Given the description of an element on the screen output the (x, y) to click on. 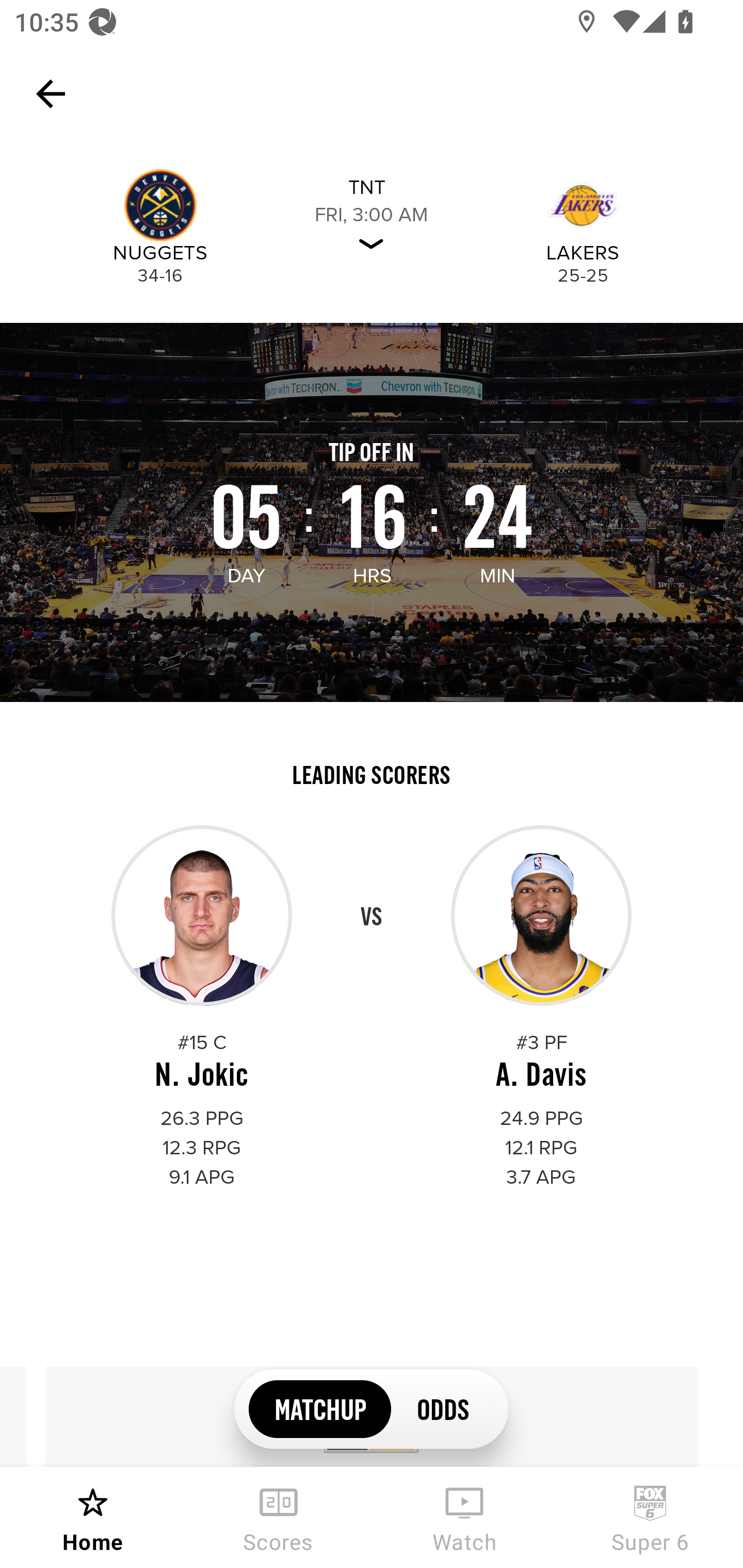
Navigate up (50, 93)
ODDS (442, 1408)
Scores (278, 1517)
Watch (464, 1517)
Super 6 (650, 1517)
